Given the description of an element on the screen output the (x, y) to click on. 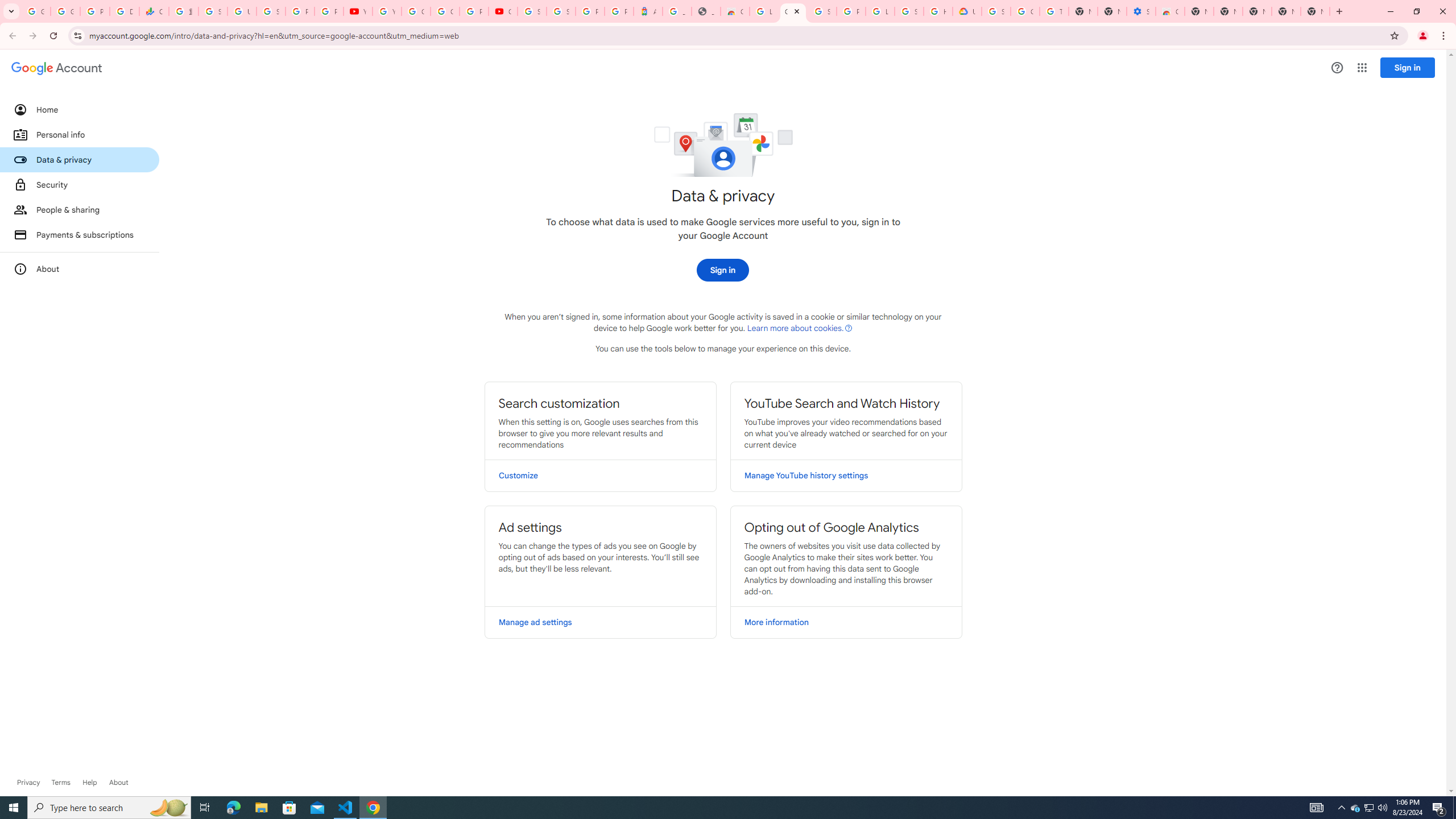
Sign in - Google Accounts (996, 11)
Google Workspace Admin Community (35, 11)
Sign in - Google Accounts (560, 11)
Personal info (79, 134)
Privacy Checkup (327, 11)
Manage YouTube history settings (846, 475)
